Given the description of an element on the screen output the (x, y) to click on. 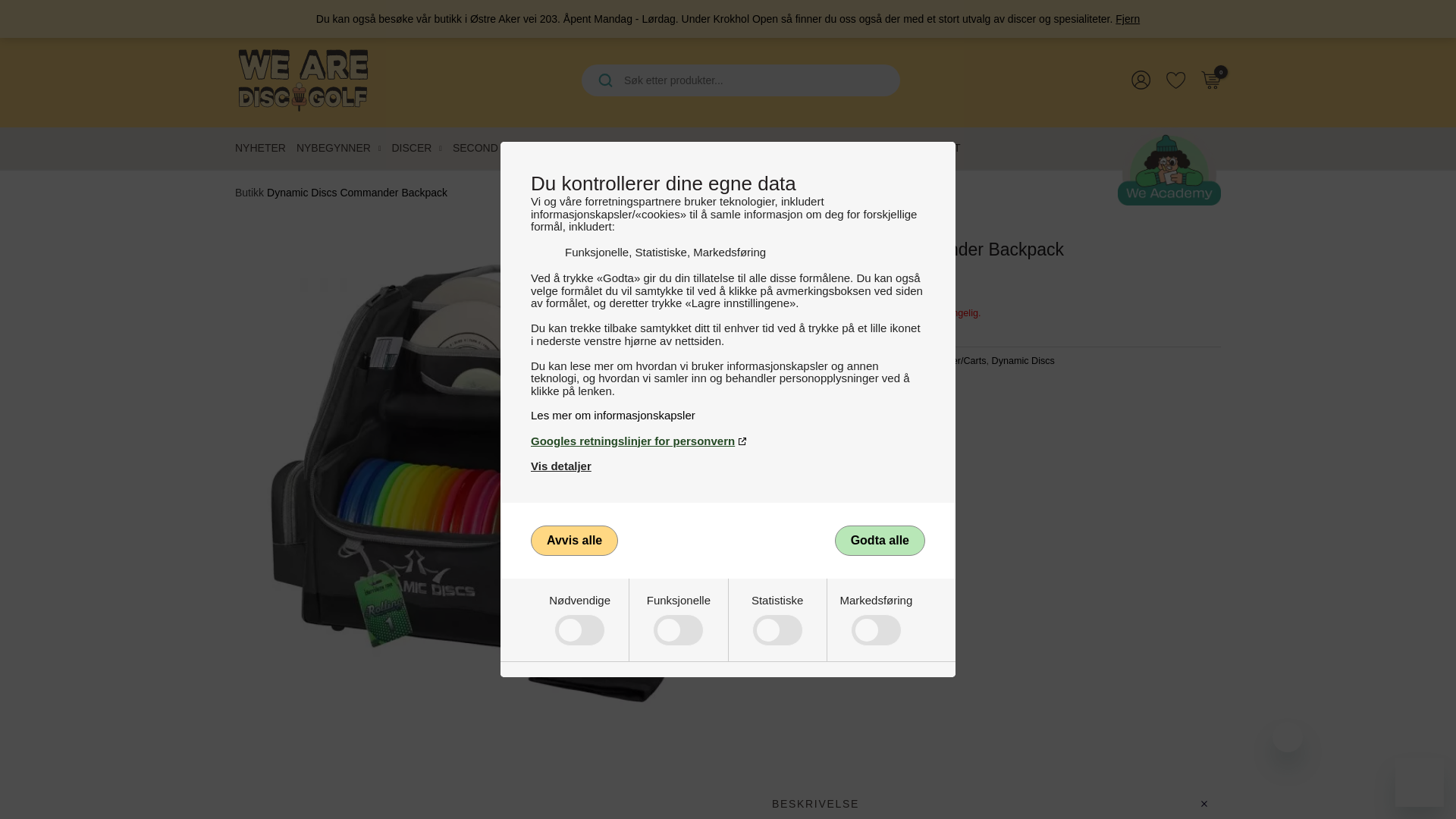
Godta alle (879, 540)
Les mer om informasjonskapsler (727, 414)
Googles retningslinjer for personvern (727, 440)
Vis detaljer (561, 465)
Avvis alle (574, 540)
